Given the description of an element on the screen output the (x, y) to click on. 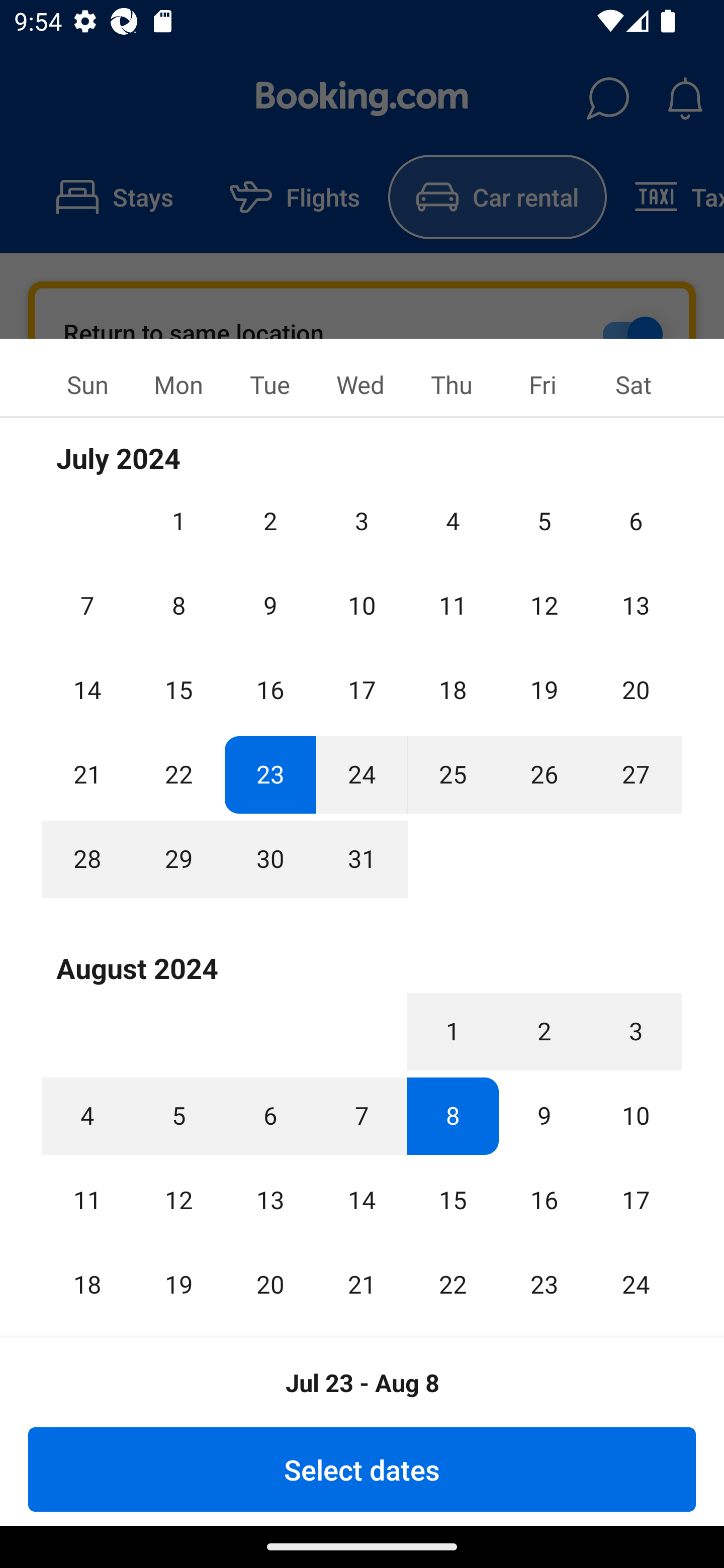
Select dates (361, 1468)
